Given the description of an element on the screen output the (x, y) to click on. 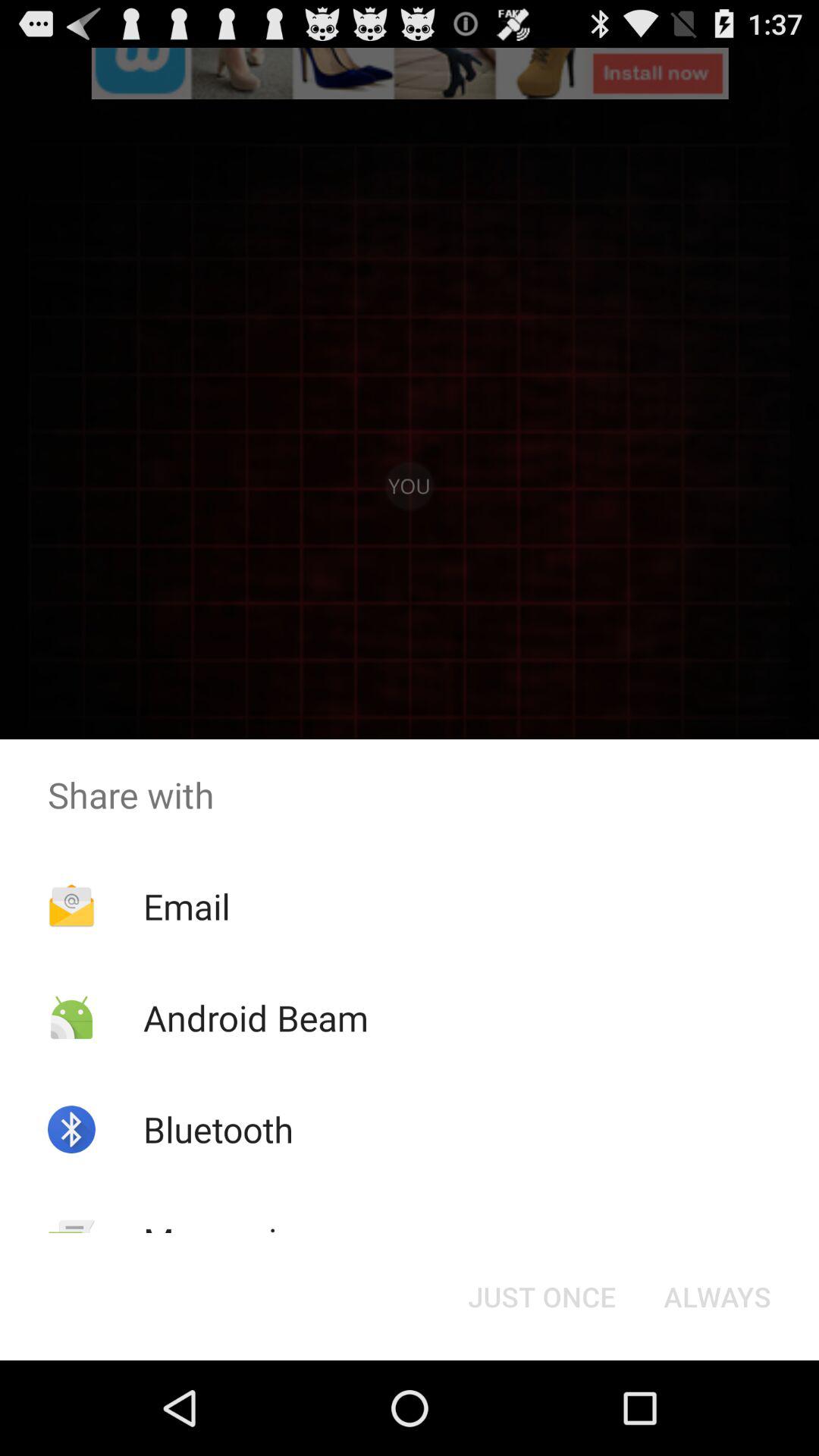
select bluetooth icon (218, 1129)
